Given the description of an element on the screen output the (x, y) to click on. 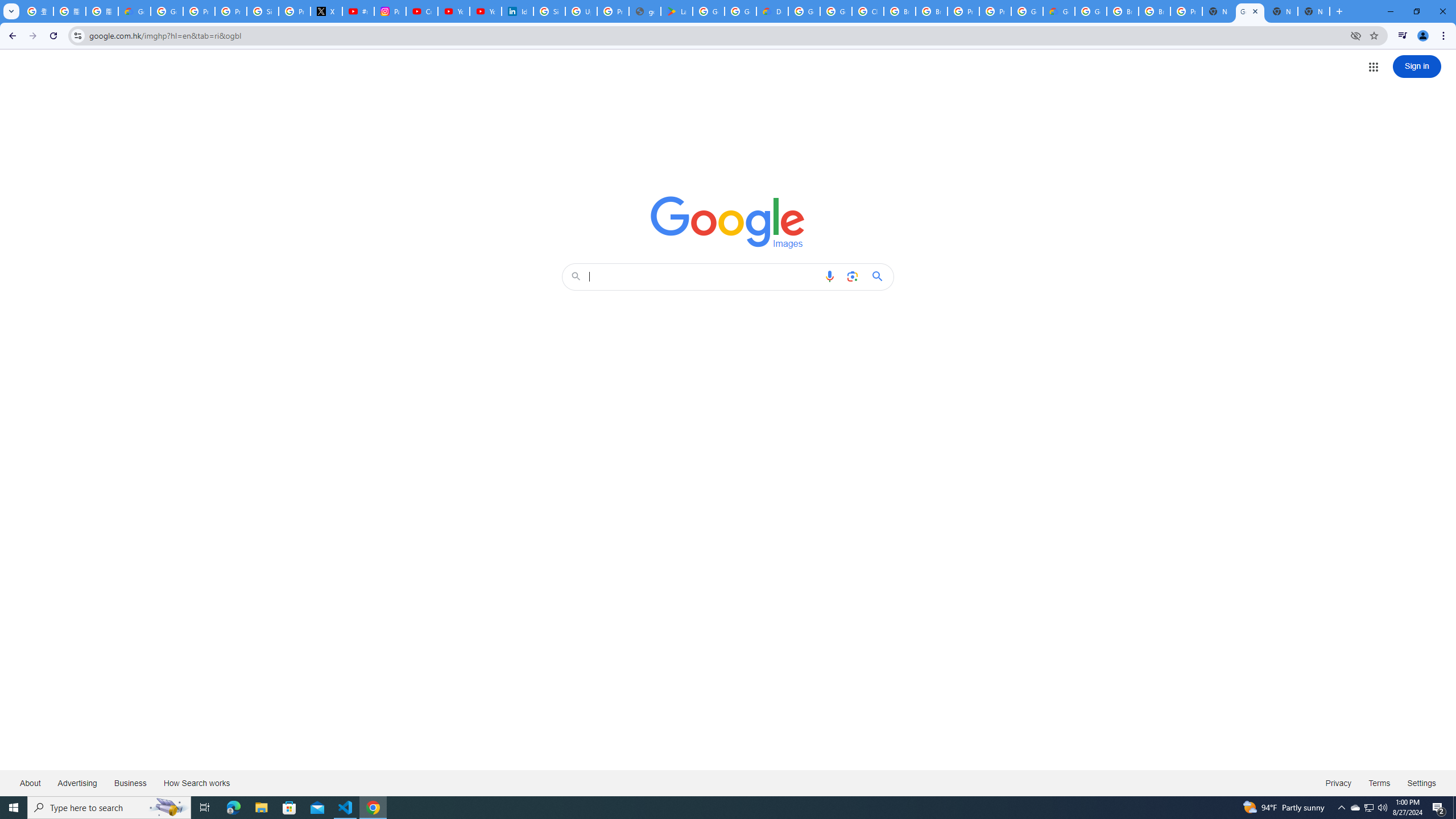
Google Search (880, 276)
X (326, 11)
Google Images (1249, 11)
About (30, 782)
